Given the description of an element on the screen output the (x, y) to click on. 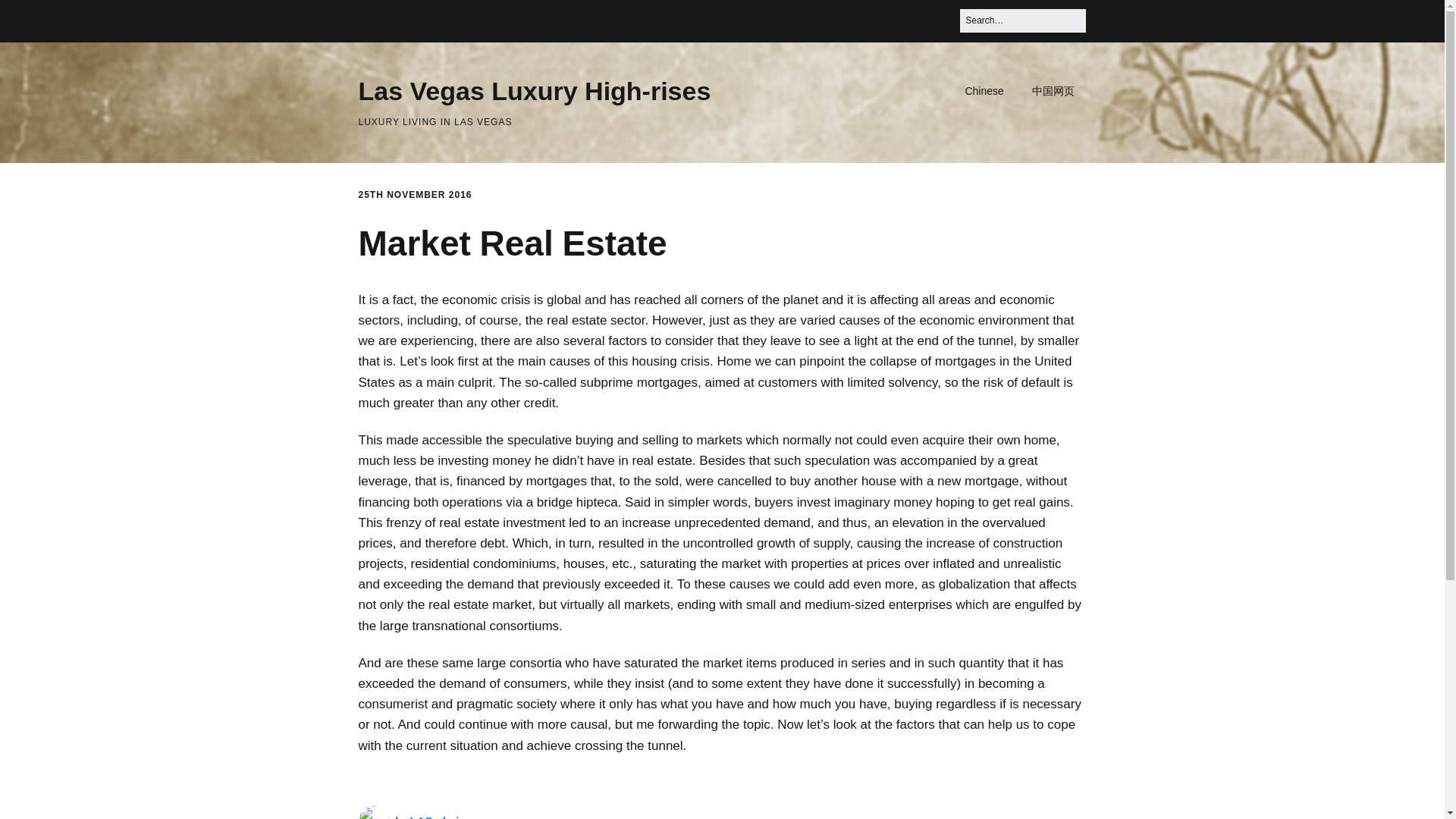
Las Vegas Luxury High-rises (534, 90)
Search (29, 16)
LASadmin (437, 816)
Chinese (983, 91)
Press Enter to submit your search (1022, 20)
